Given the description of an element on the screen output the (x, y) to click on. 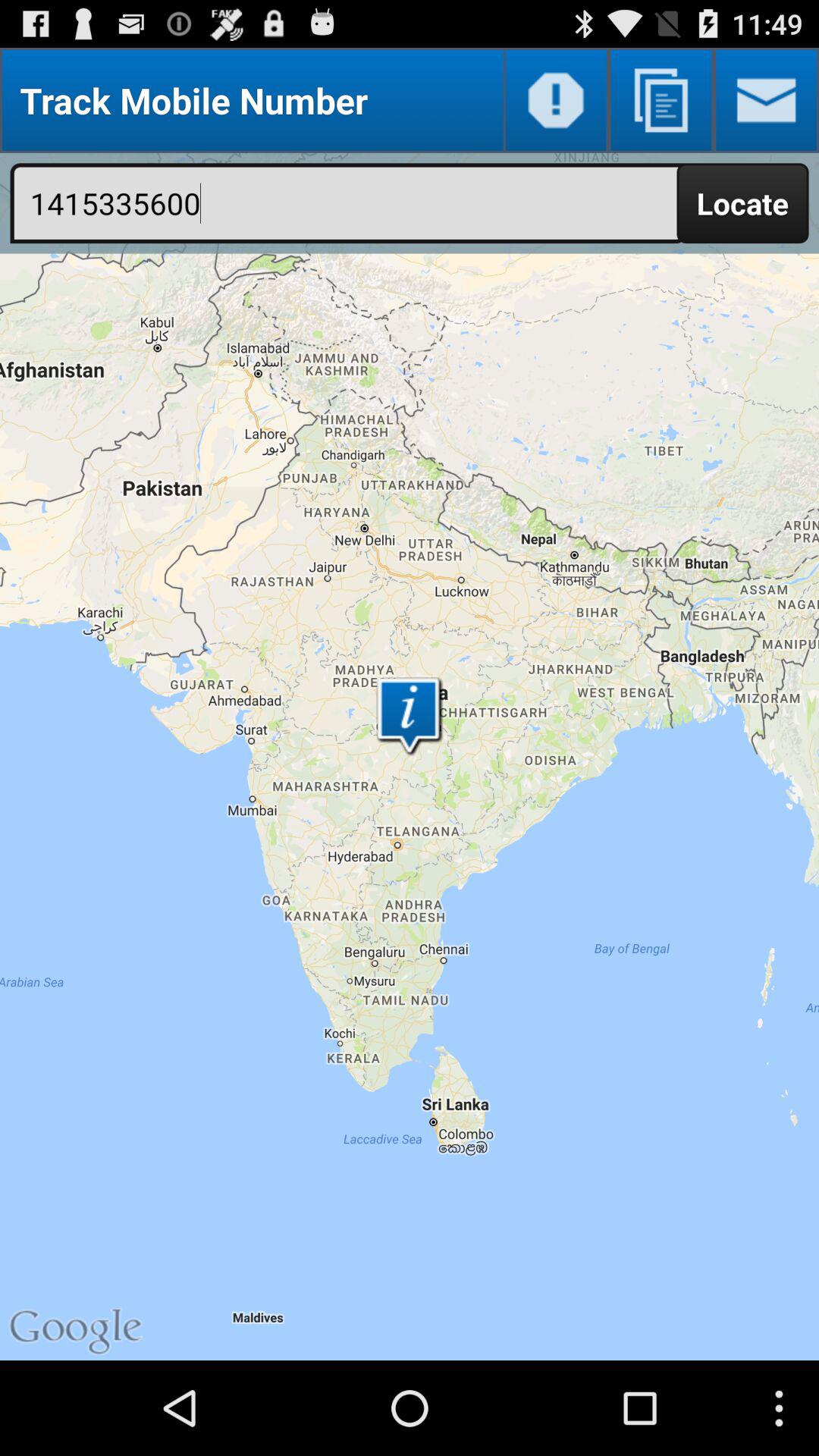
advertisement (660, 99)
